Given the description of an element on the screen output the (x, y) to click on. 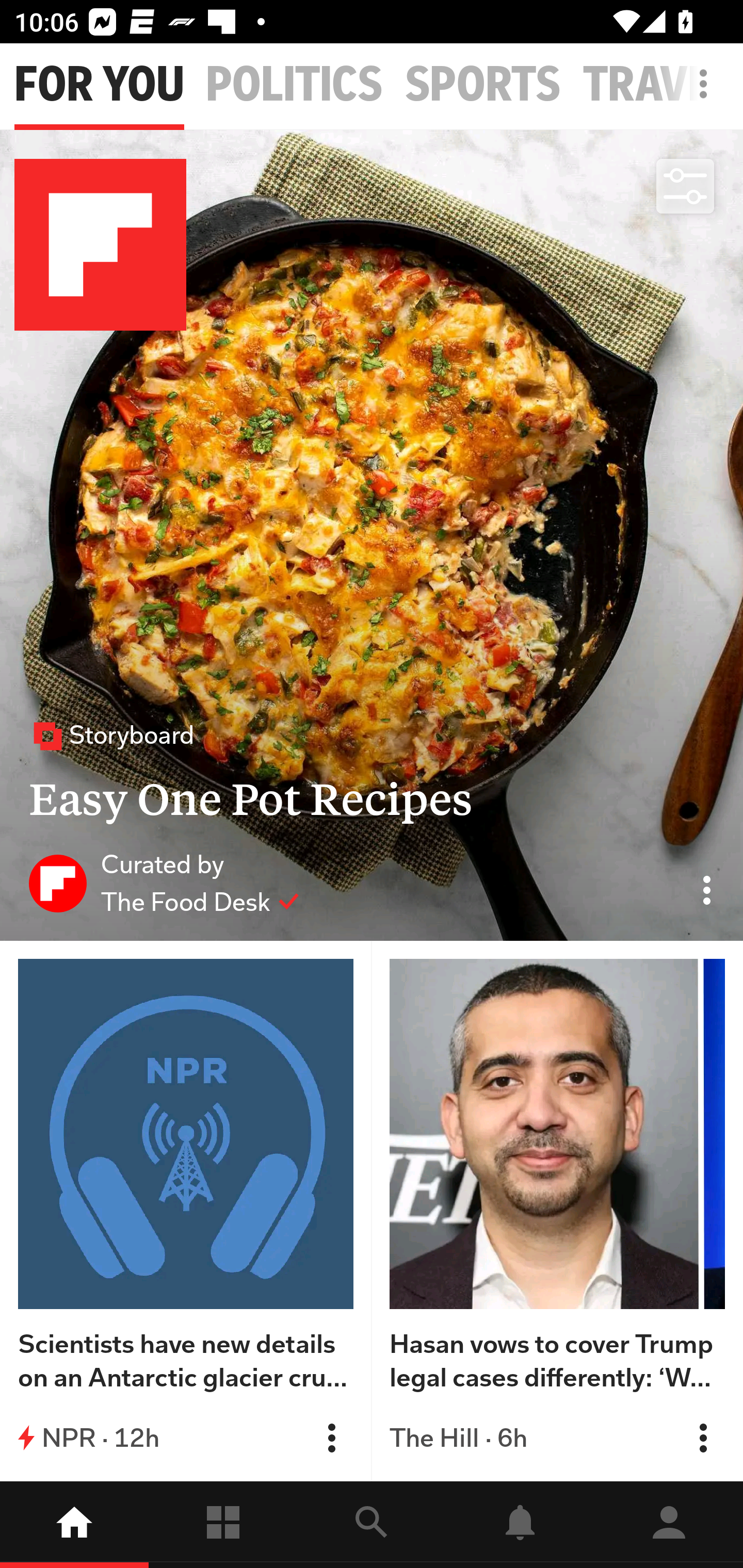
FOR YOU (99, 84)
POLITICS (294, 84)
SPORTS (482, 84)
More options (706, 93)
Curated by The Food Desk (163, 882)
NPR · 12h Flip into Magazine (185, 1437)
The Hill · 6h Flip into Magazine (557, 1437)
Flip into Magazine (331, 1437)
Flip into Magazine (703, 1437)
home (74, 1524)
Following (222, 1524)
explore (371, 1524)
Notifications (519, 1524)
Profile (668, 1524)
